Given the description of an element on the screen output the (x, y) to click on. 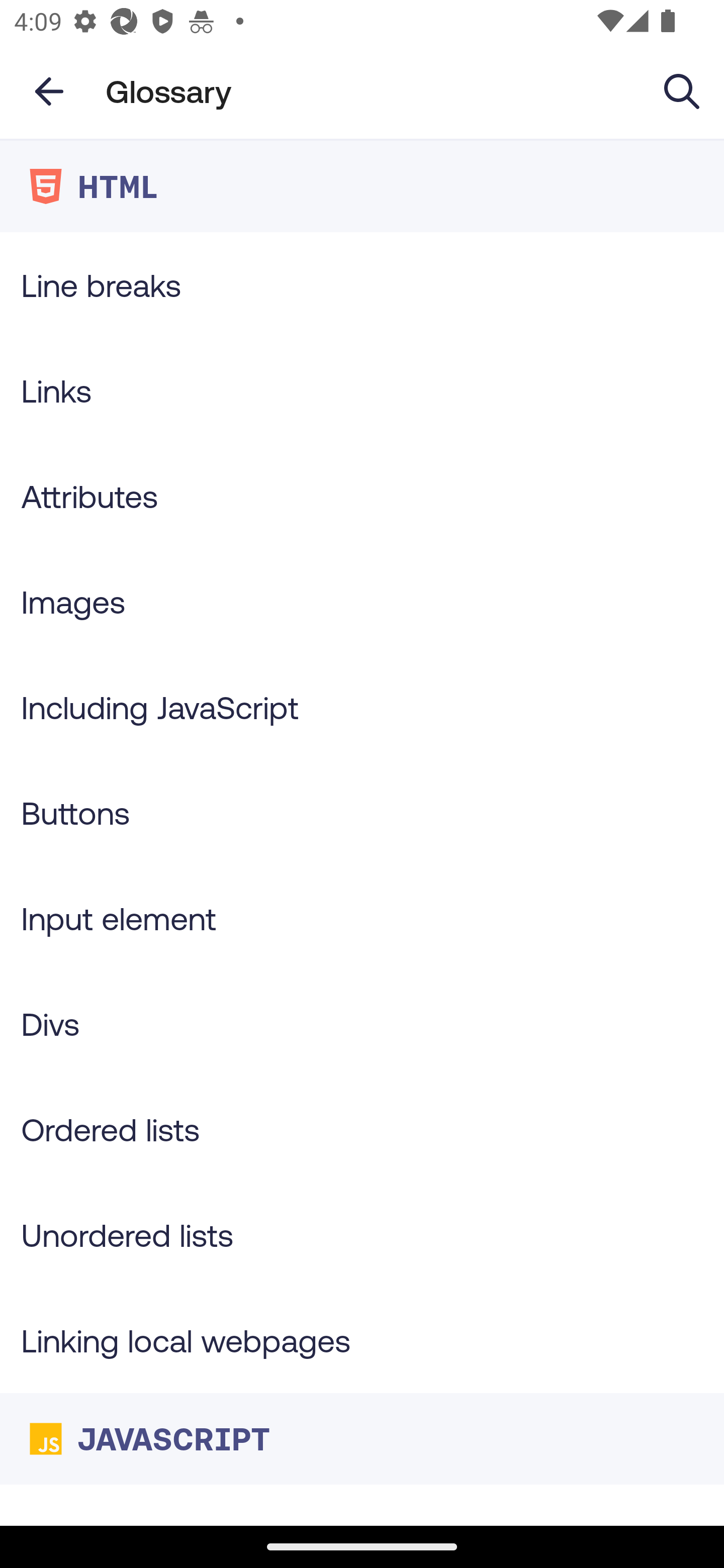
Navigate up (49, 91)
Search Glossary (681, 90)
HTML (362, 186)
Line breaks (362, 284)
Links (362, 390)
Attributes (362, 495)
Images (362, 600)
Including JavaScript (362, 706)
Buttons (362, 812)
Input element (362, 917)
Divs (362, 1023)
Ordered lists (362, 1129)
Unordered lists (362, 1234)
Linking local webpages (362, 1339)
JAVASCRIPT (362, 1438)
